Given the description of an element on the screen output the (x, y) to click on. 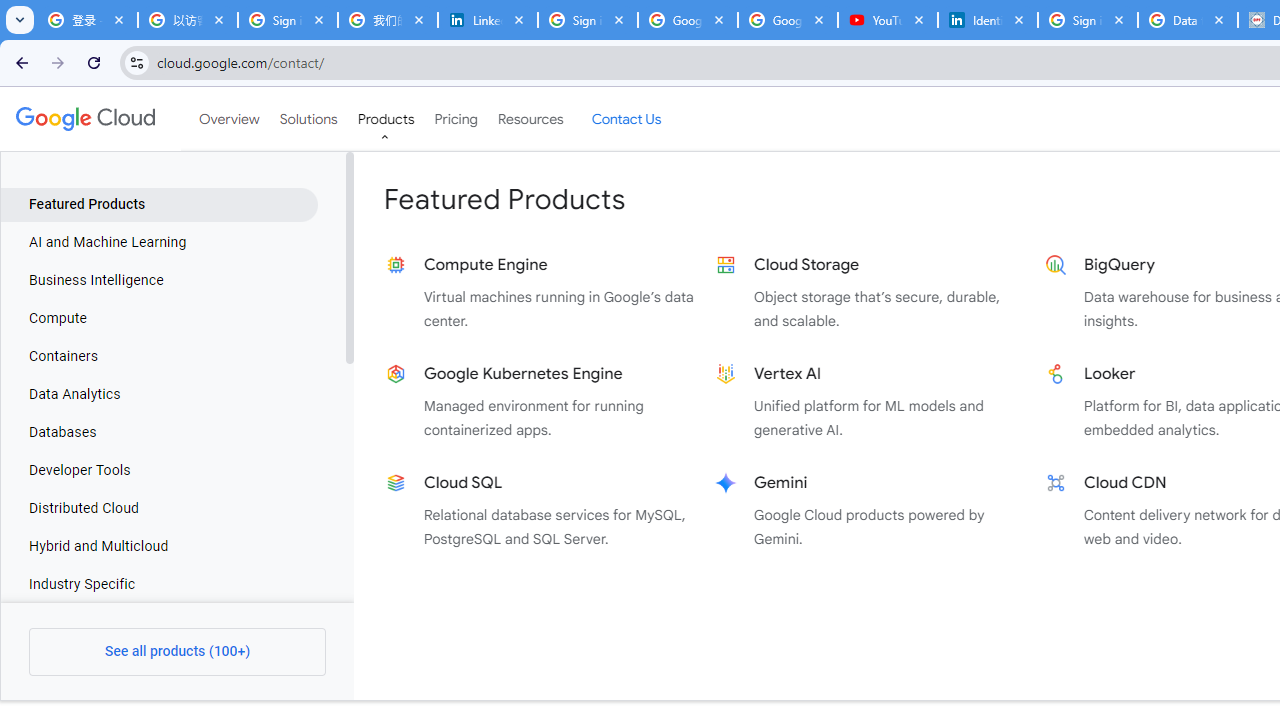
Developer Tools (159, 471)
